Given the description of an element on the screen output the (x, y) to click on. 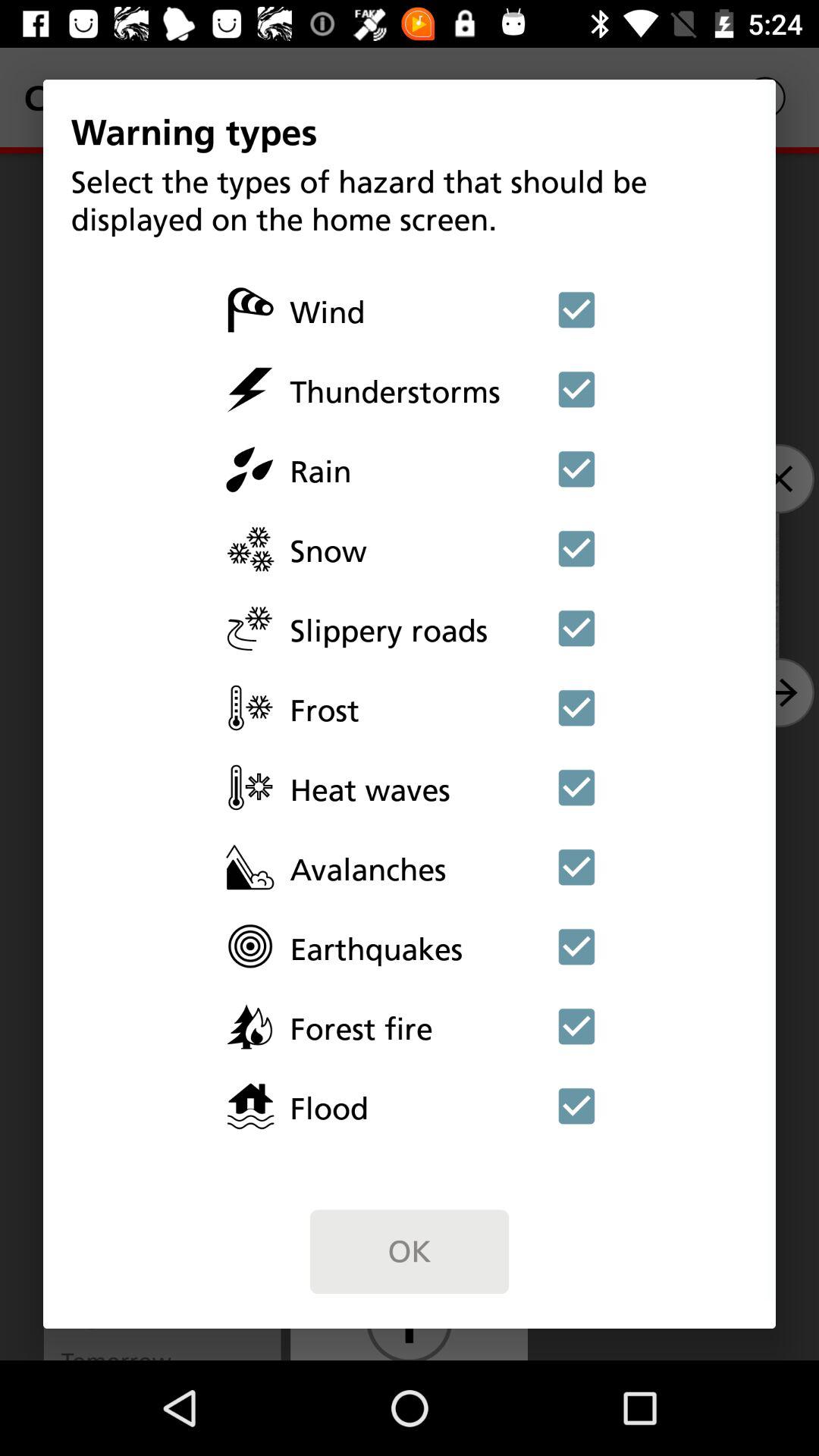
meteoswiss (576, 389)
